Given the description of an element on the screen output the (x, y) to click on. 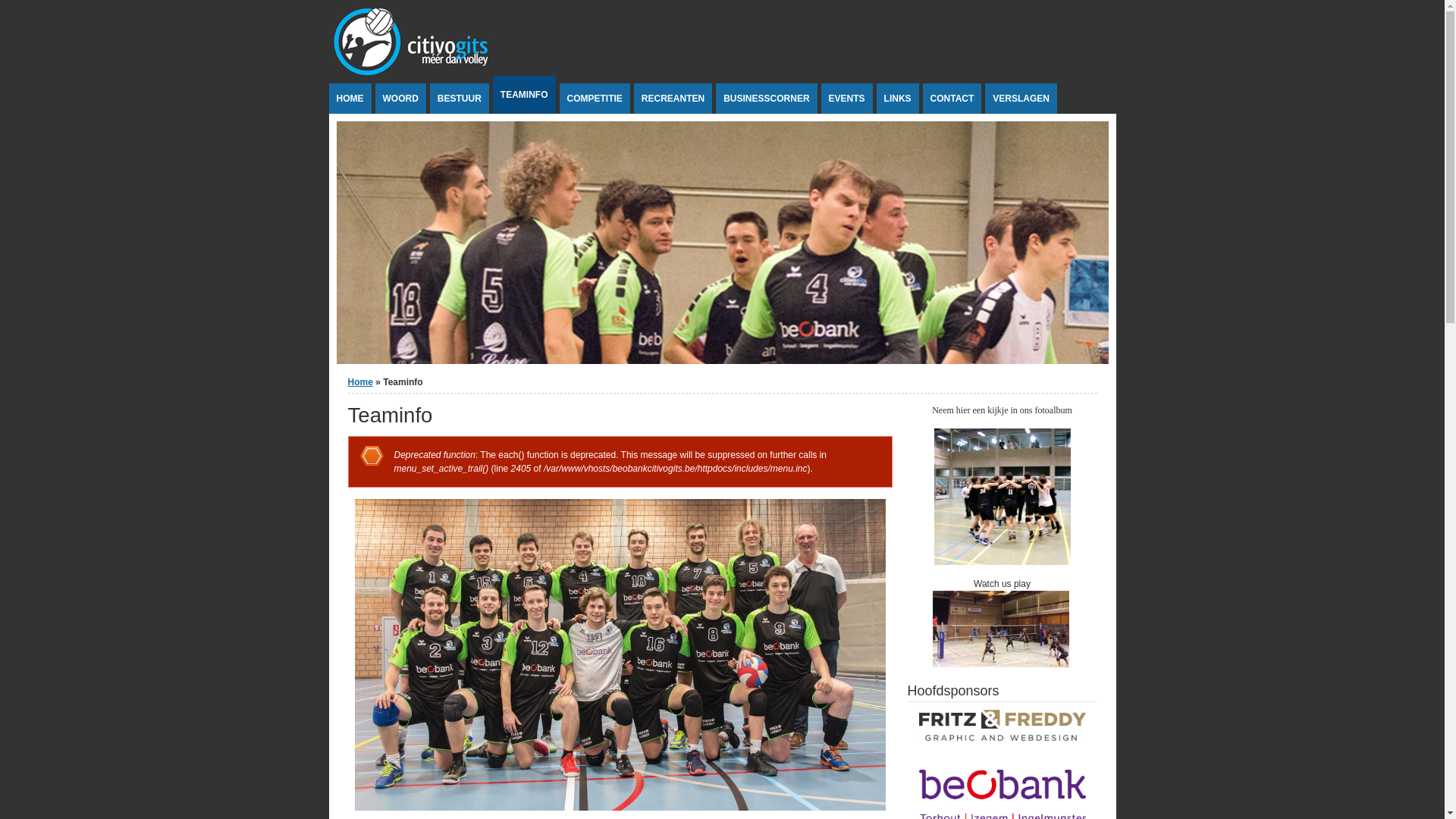
EVENTS Element type: text (846, 98)
Back to homepage Element type: hover (415, 73)
WOORD Element type: text (399, 98)
VERSLAGEN Element type: text (1021, 98)
Fritz and Freddy Element type: hover (1002, 743)
HOME Element type: text (350, 98)
Home Element type: text (359, 381)
BUSINESSCORNER Element type: text (765, 98)
BESTUUR Element type: text (459, 98)
RECREANTEN Element type: text (672, 98)
Fritz and Freddy Element type: hover (1002, 724)
COMPETITIE Element type: text (594, 98)
LINKS Element type: text (897, 98)
TEAMINFO Element type: text (523, 94)
CONTACT Element type: text (952, 98)
Jump to Content Element type: text (33, 7)
